Given the description of an element on the screen output the (x, y) to click on. 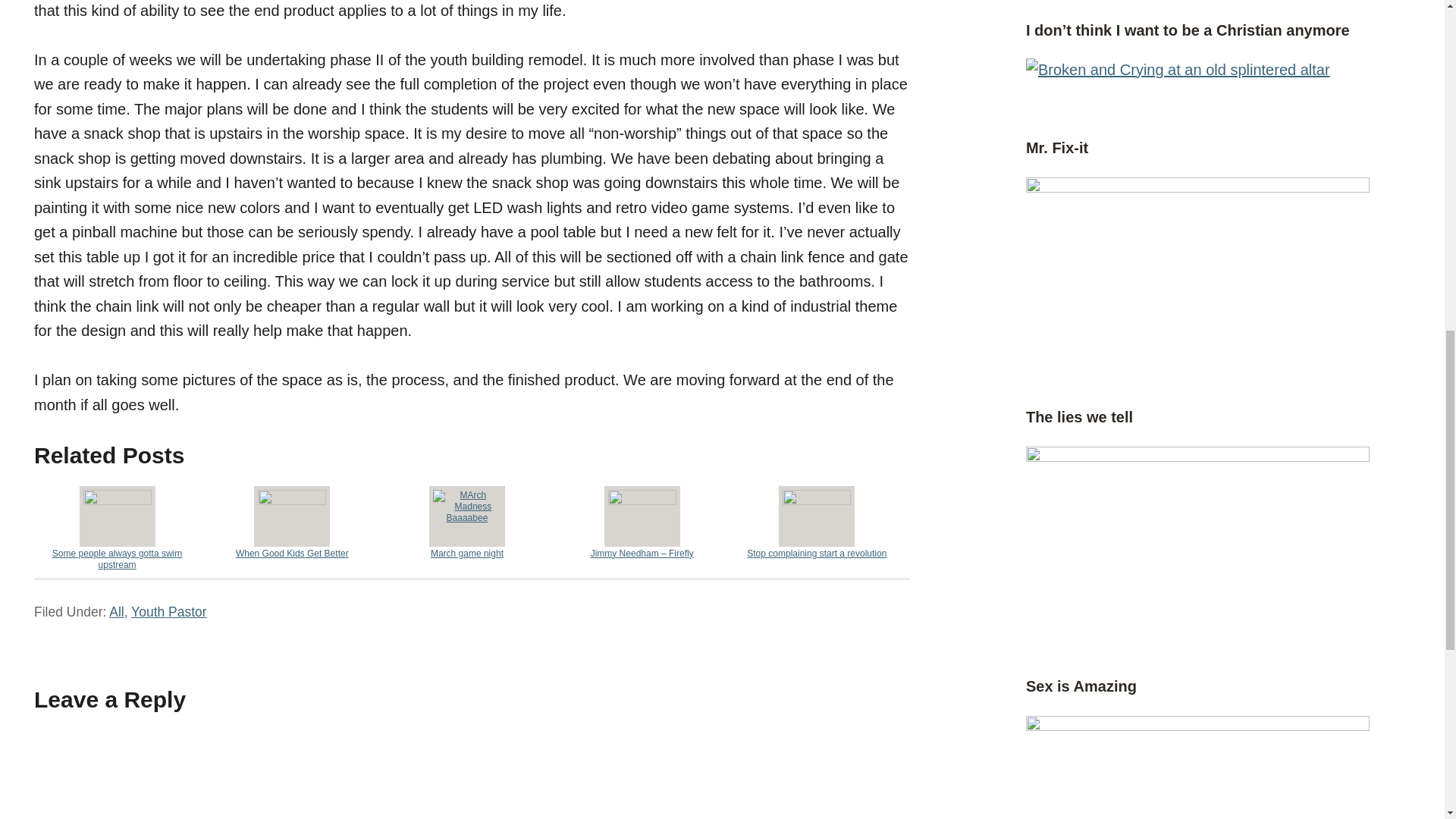
The lies we tell (1079, 416)
Mr. Fix-it (1198, 187)
Some people always gotta swim upstream (116, 527)
Permanent Link toMarch game night (467, 521)
Sex is Amazing (1081, 686)
Stop complaining start a revolution (816, 521)
March game night (467, 521)
Permanent Link toStop complaining start a revolution (816, 521)
Youth Pastor (168, 611)
Mr. Fix-it (1056, 147)
